Given the description of an element on the screen output the (x, y) to click on. 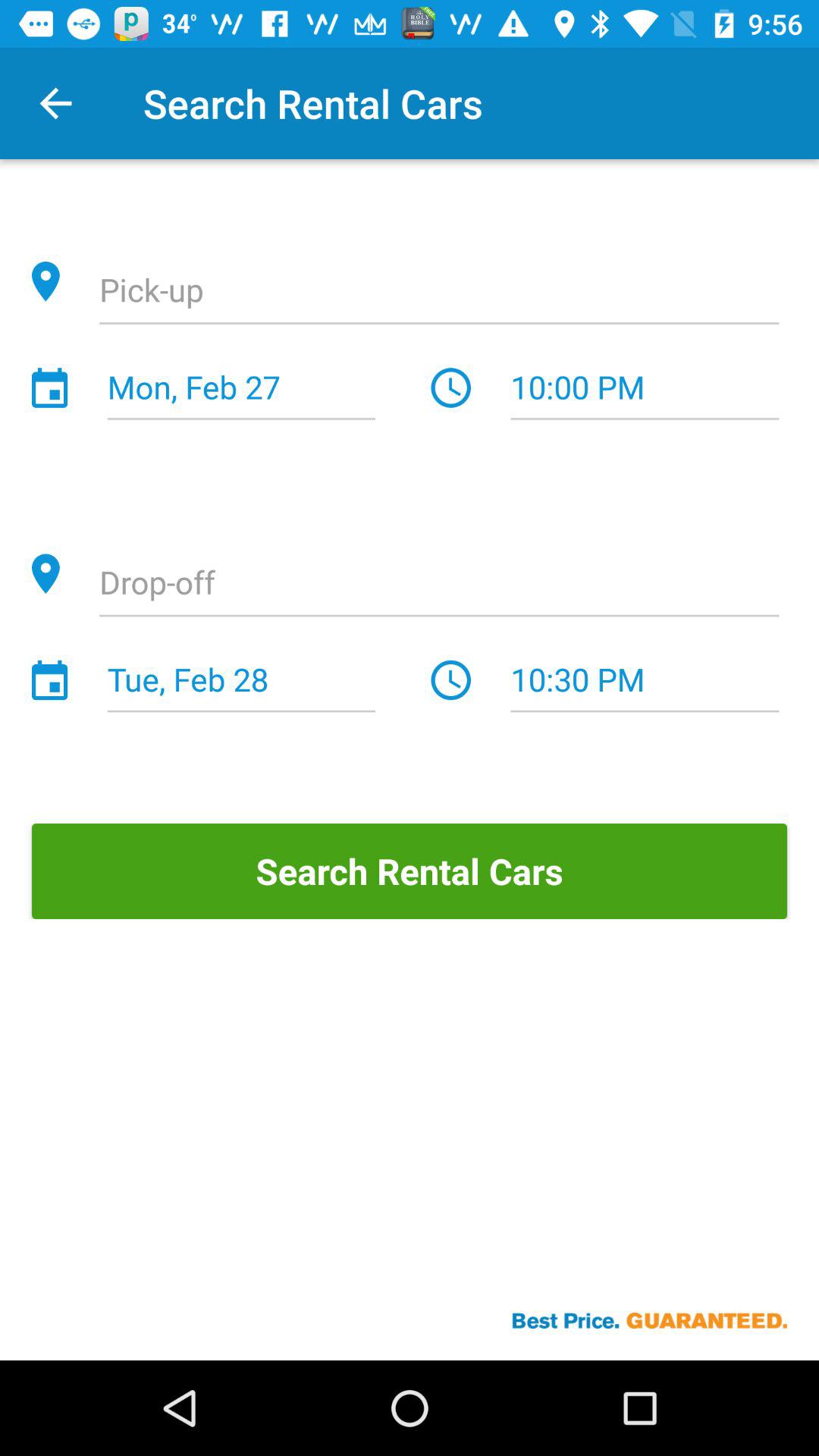
launch icon above the mon, feb 27 (439, 292)
